Given the description of an element on the screen output the (x, y) to click on. 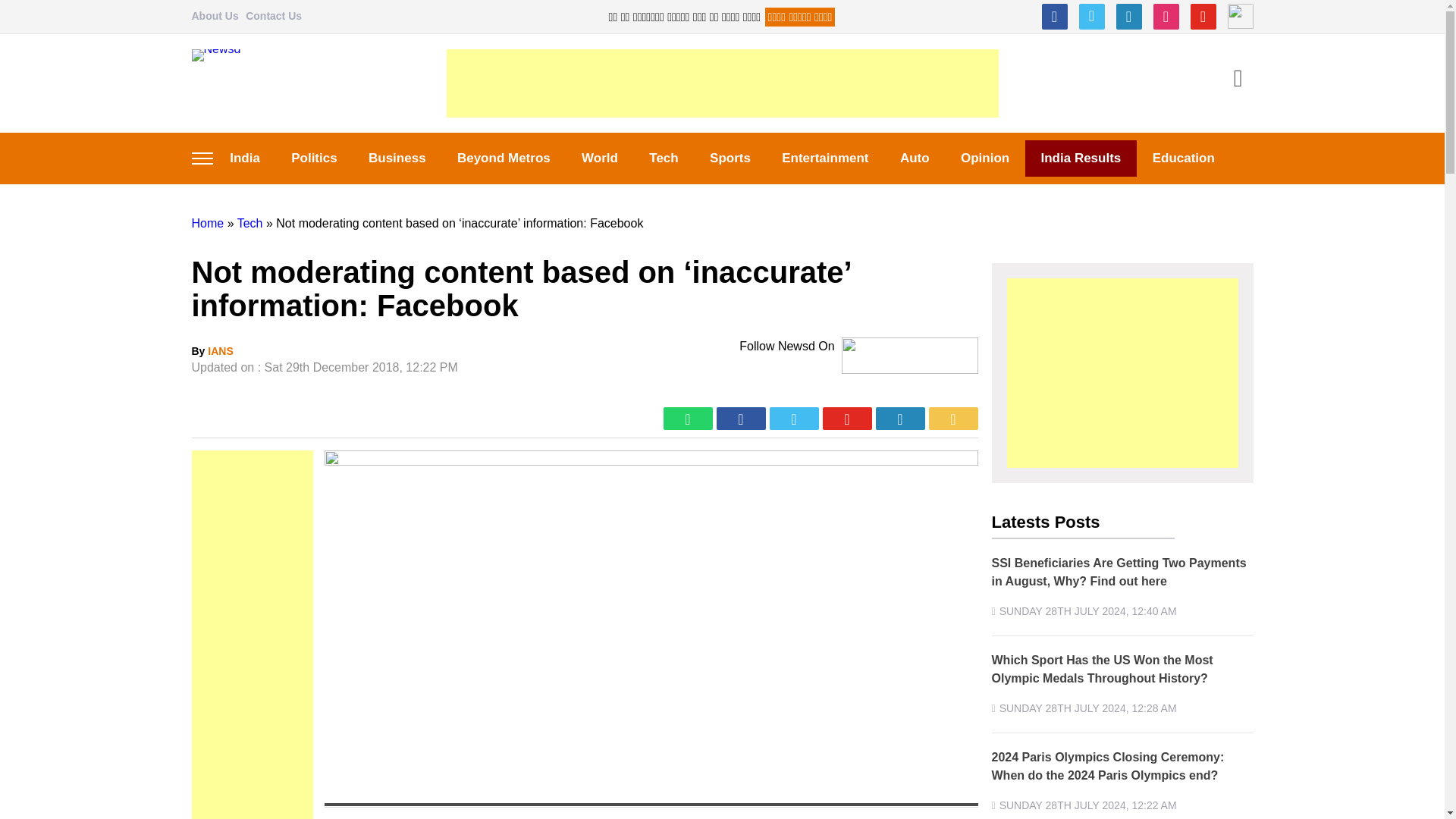
About Us (214, 15)
Sports (729, 158)
Tech (663, 158)
Entertainment (826, 158)
About Us (214, 15)
Instagram (1165, 16)
Tech (250, 223)
Home (207, 223)
Contact Us (273, 15)
IANS (220, 350)
Search (1237, 79)
Opinion (984, 158)
Entertainment (826, 158)
Twitter (1090, 16)
Newsd.in (218, 83)
